Given the description of an element on the screen output the (x, y) to click on. 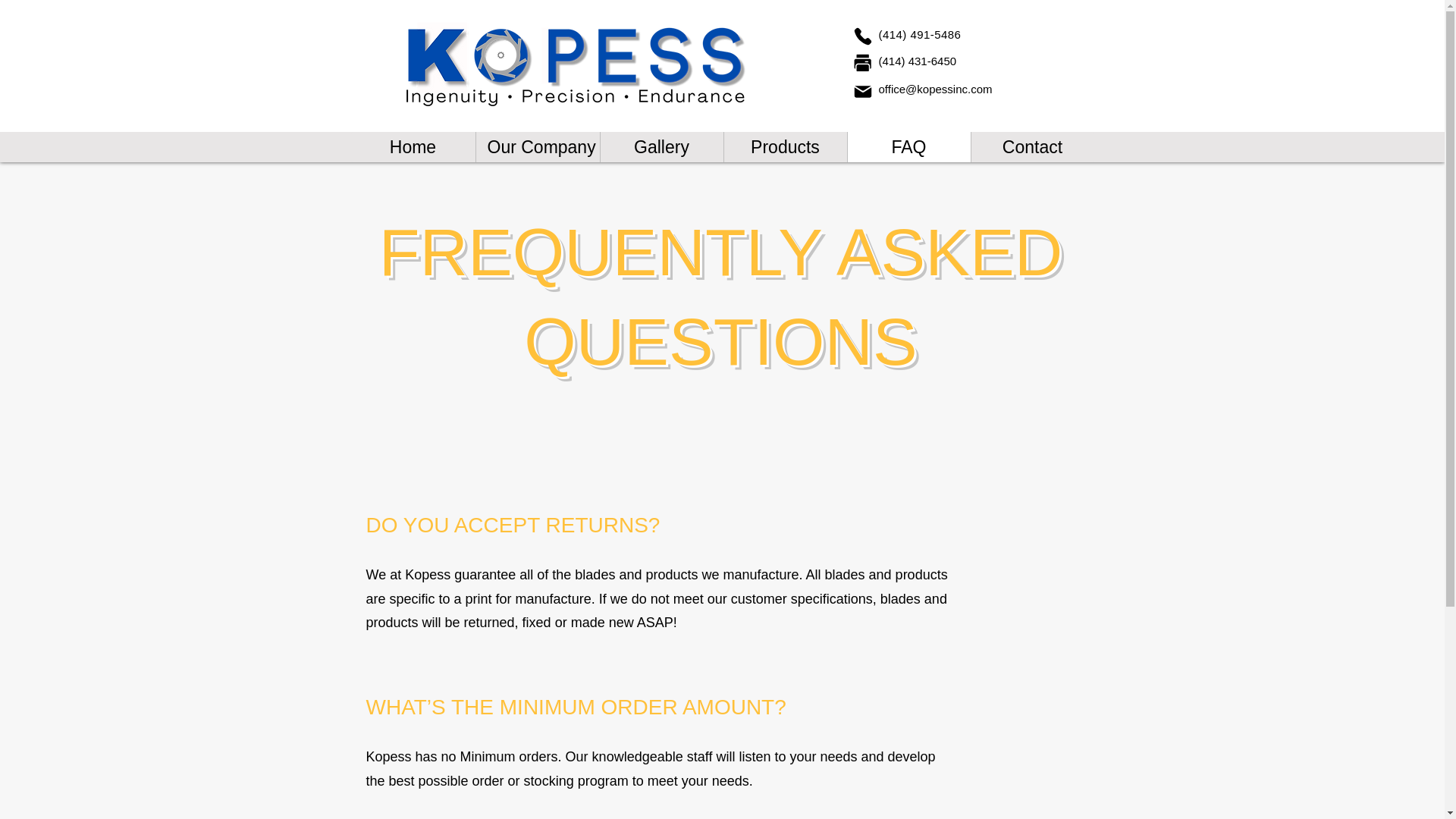
Products (785, 146)
Contact (1032, 146)
Our Company (536, 146)
Gallery (660, 146)
Home (412, 146)
FAQ (907, 146)
